Given the description of an element on the screen output the (x, y) to click on. 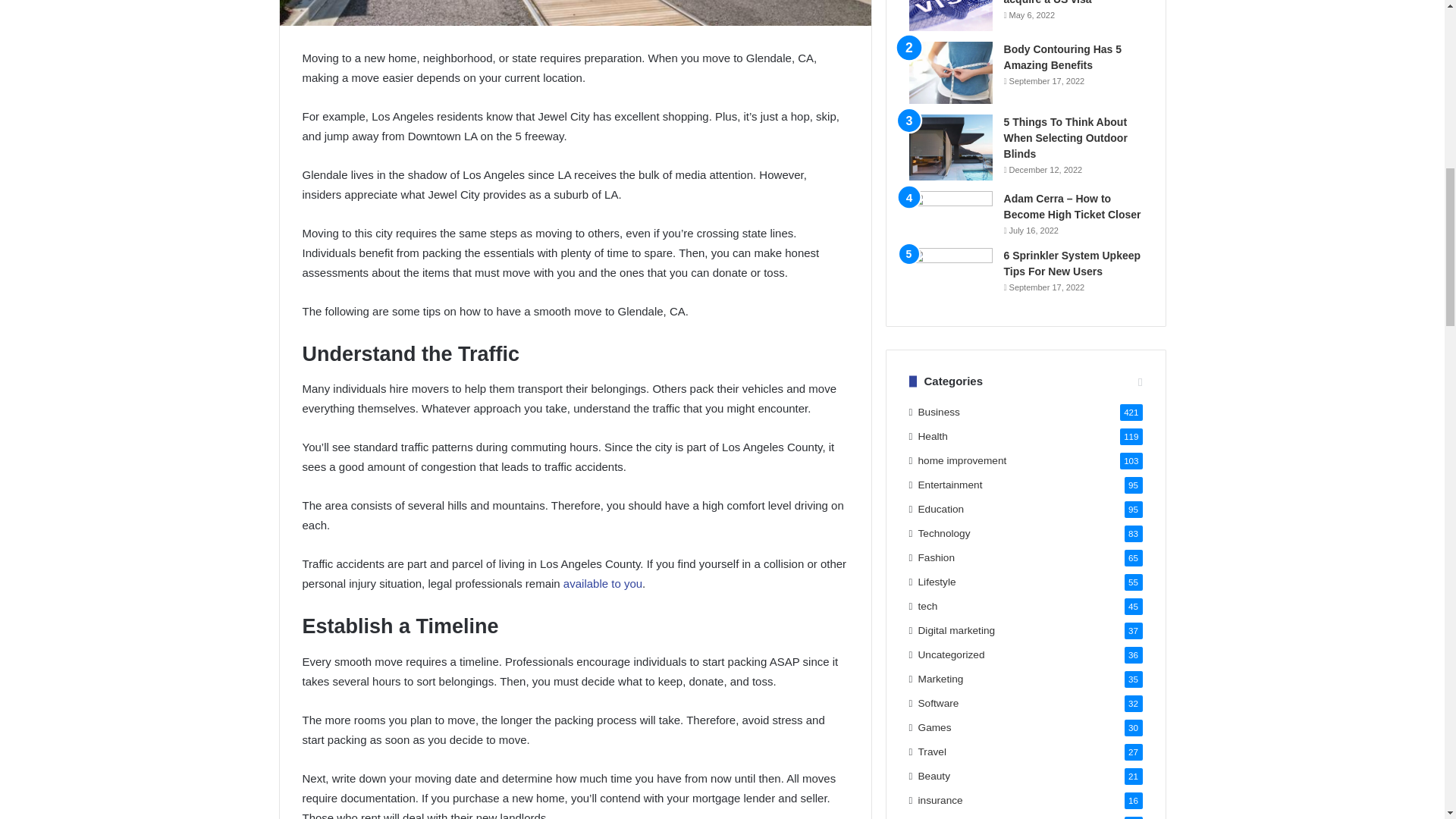
available to you (602, 583)
